Given the description of an element on the screen output the (x, y) to click on. 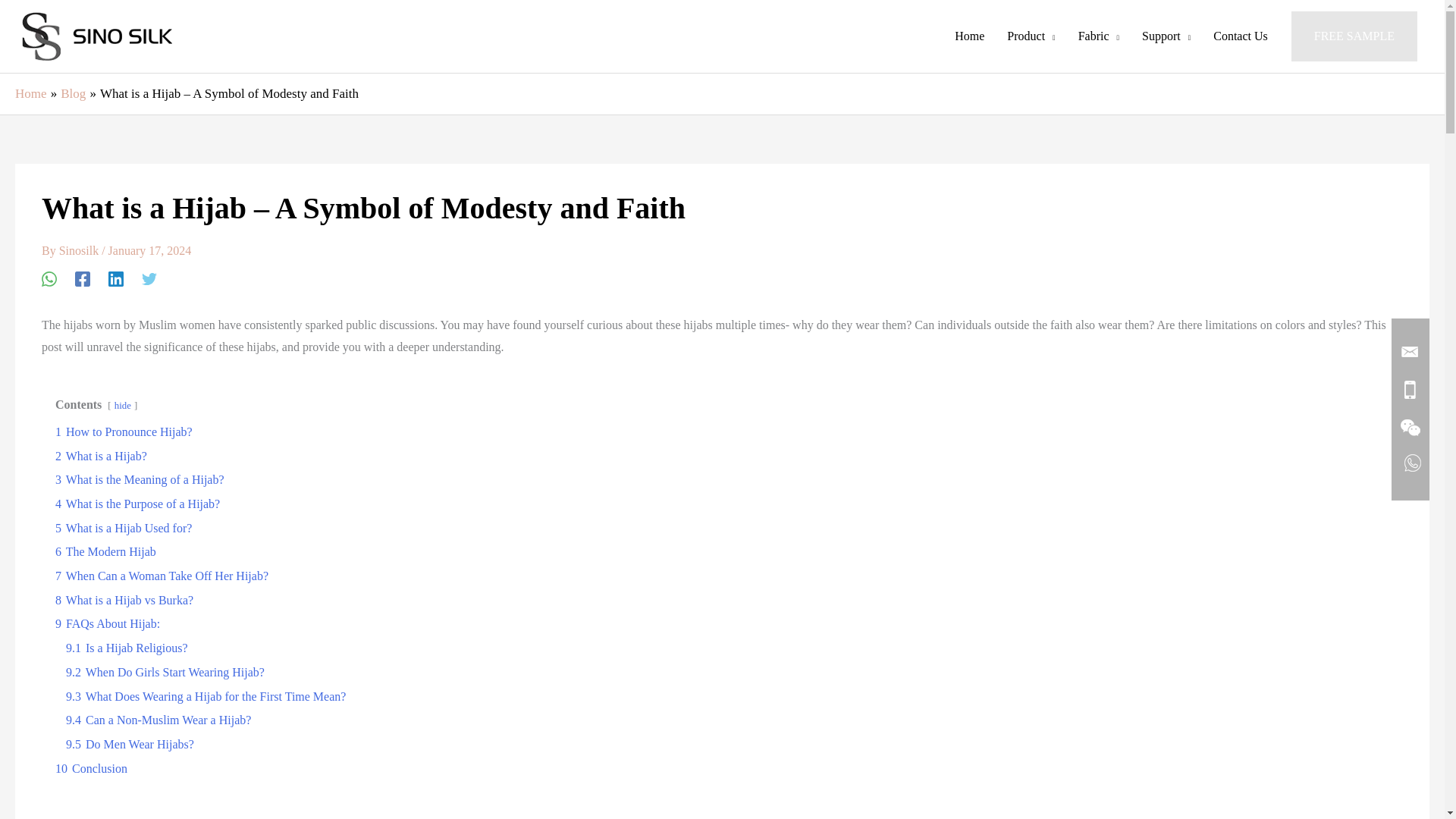
Product (1030, 36)
View all posts by Sinosilk (80, 250)
